Given the description of an element on the screen output the (x, y) to click on. 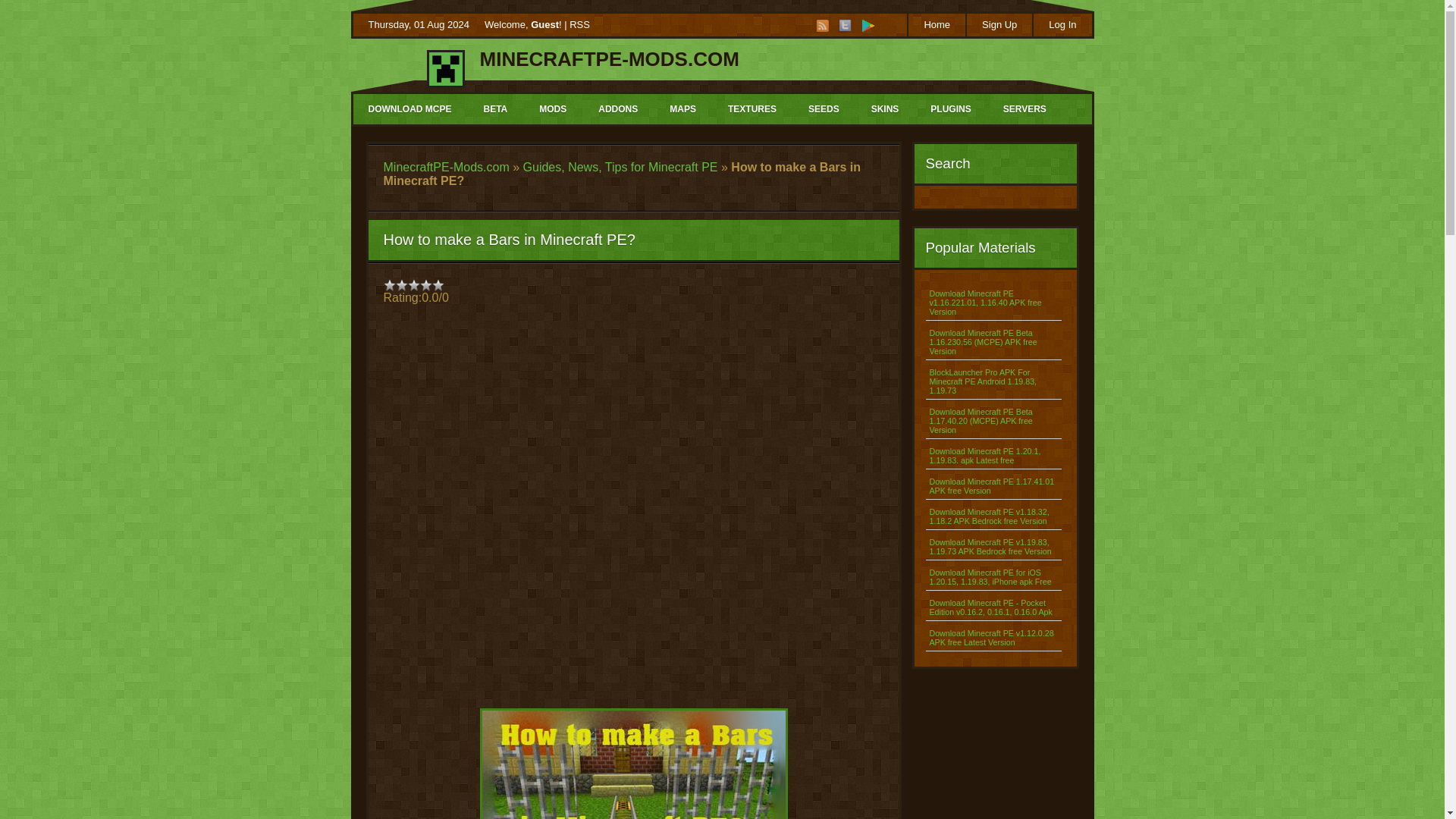
Click to view in full size... (633, 763)
RSS (822, 25)
MODS (551, 109)
ADDONS (616, 109)
DOWNLOAD MCPE (410, 109)
MinecraftPE-Mods.com apk (868, 25)
BETA (494, 109)
Sign Up (998, 24)
Log In (1061, 24)
Twitter (845, 25)
Log In (1061, 24)
MAPS (681, 109)
Sign Up (998, 24)
Home (936, 24)
RSS (579, 24)
